Given the description of an element on the screen output the (x, y) to click on. 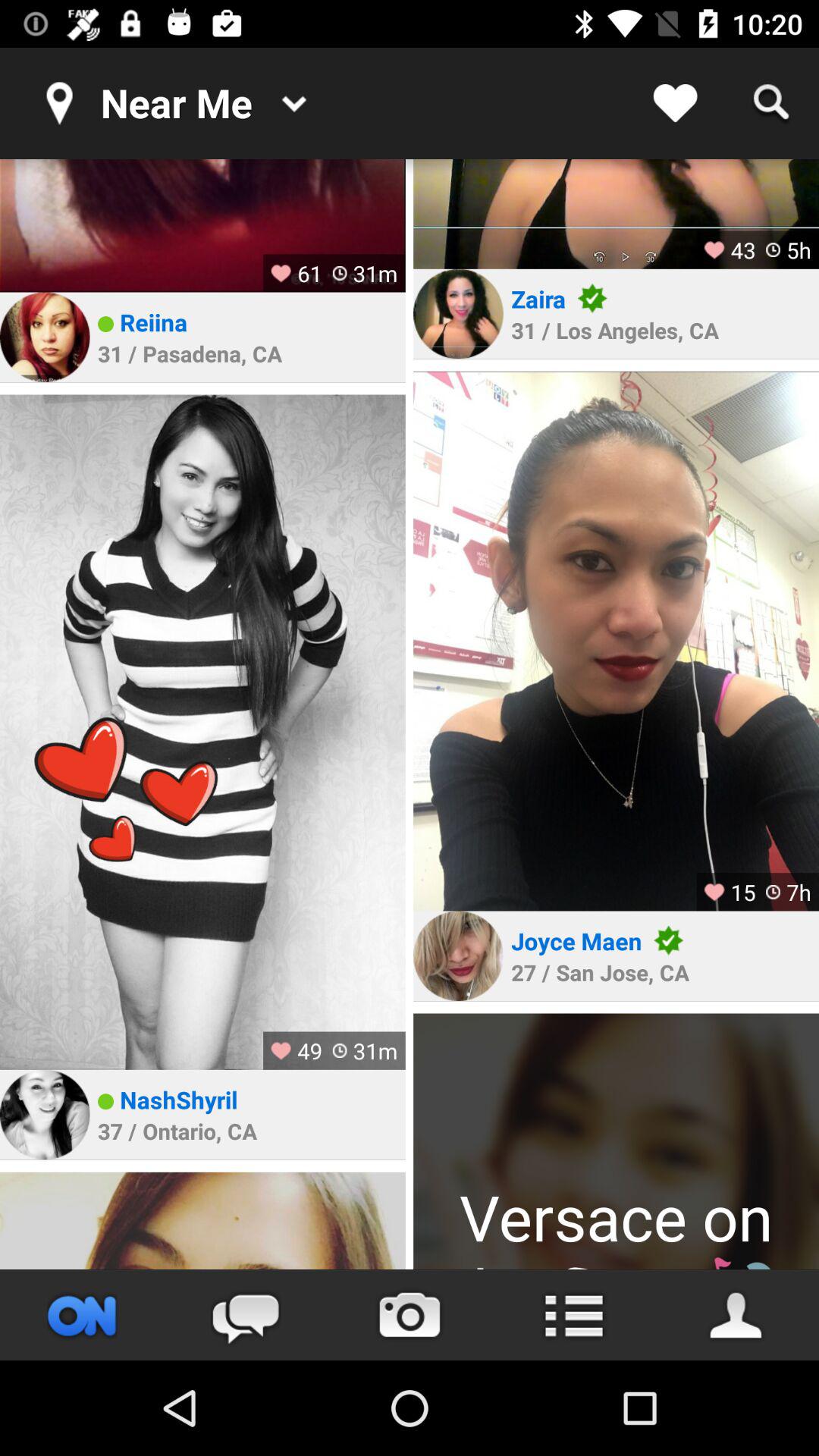
profile picture to go to person 's profile (616, 1141)
